Given the description of an element on the screen output the (x, y) to click on. 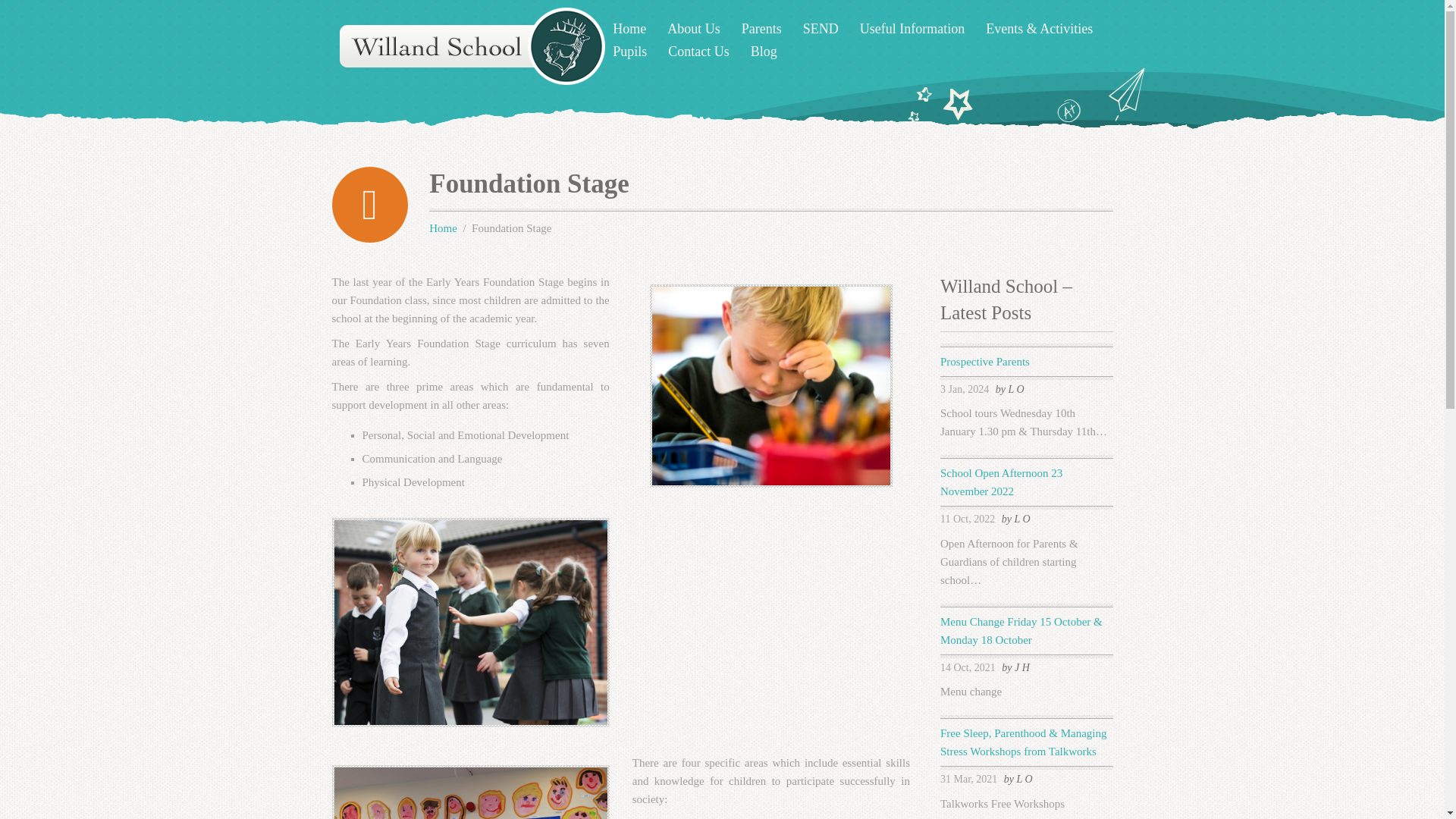
foundation-portraits (470, 791)
School Open Afternoon 23 November 2022 (1001, 481)
30-foundation11 (470, 622)
hardatwork (770, 385)
Prospective Parents (984, 361)
